Given the description of an element on the screen output the (x, y) to click on. 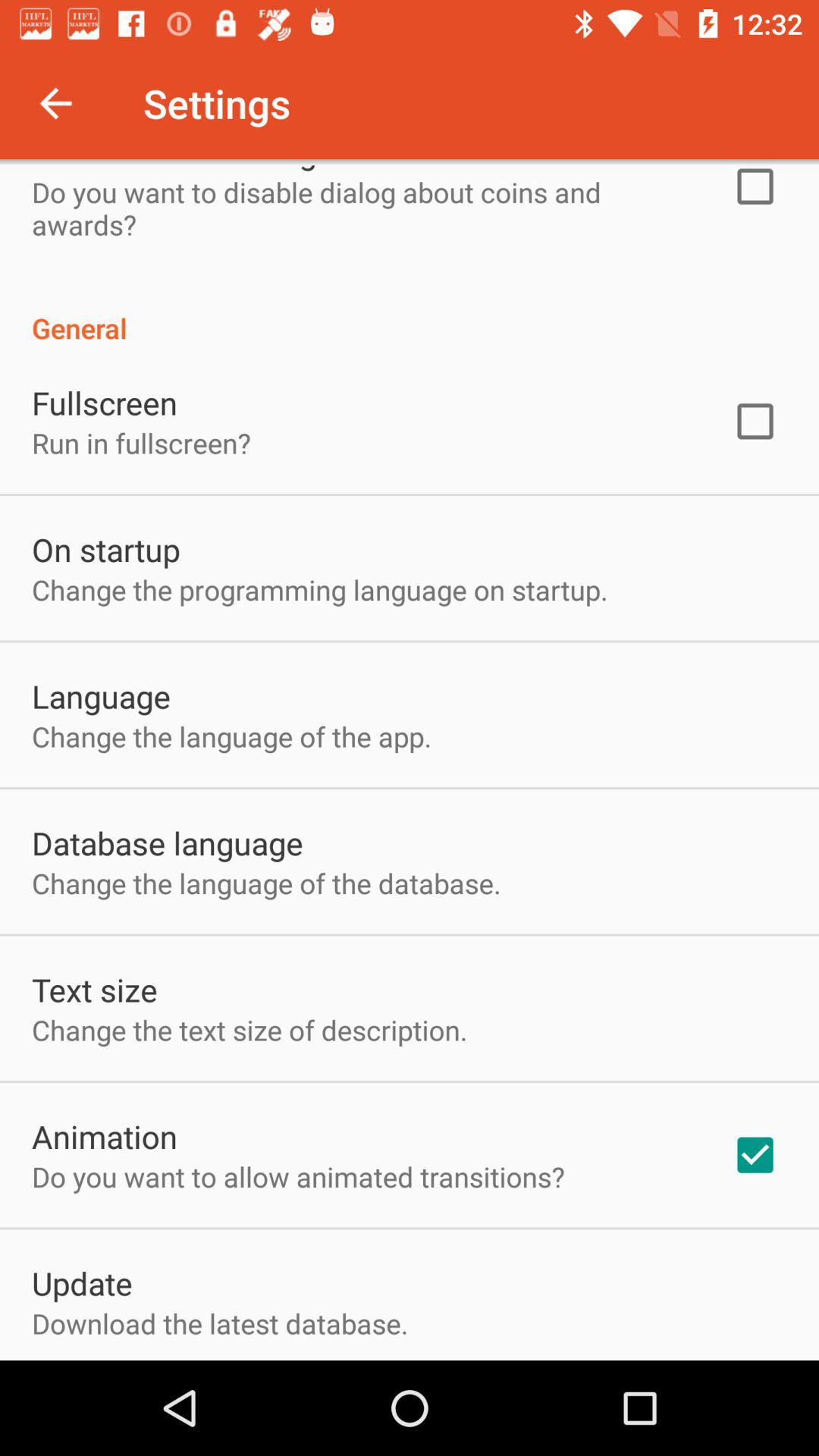
open item below the do you want icon (81, 1282)
